Given the description of an element on the screen output the (x, y) to click on. 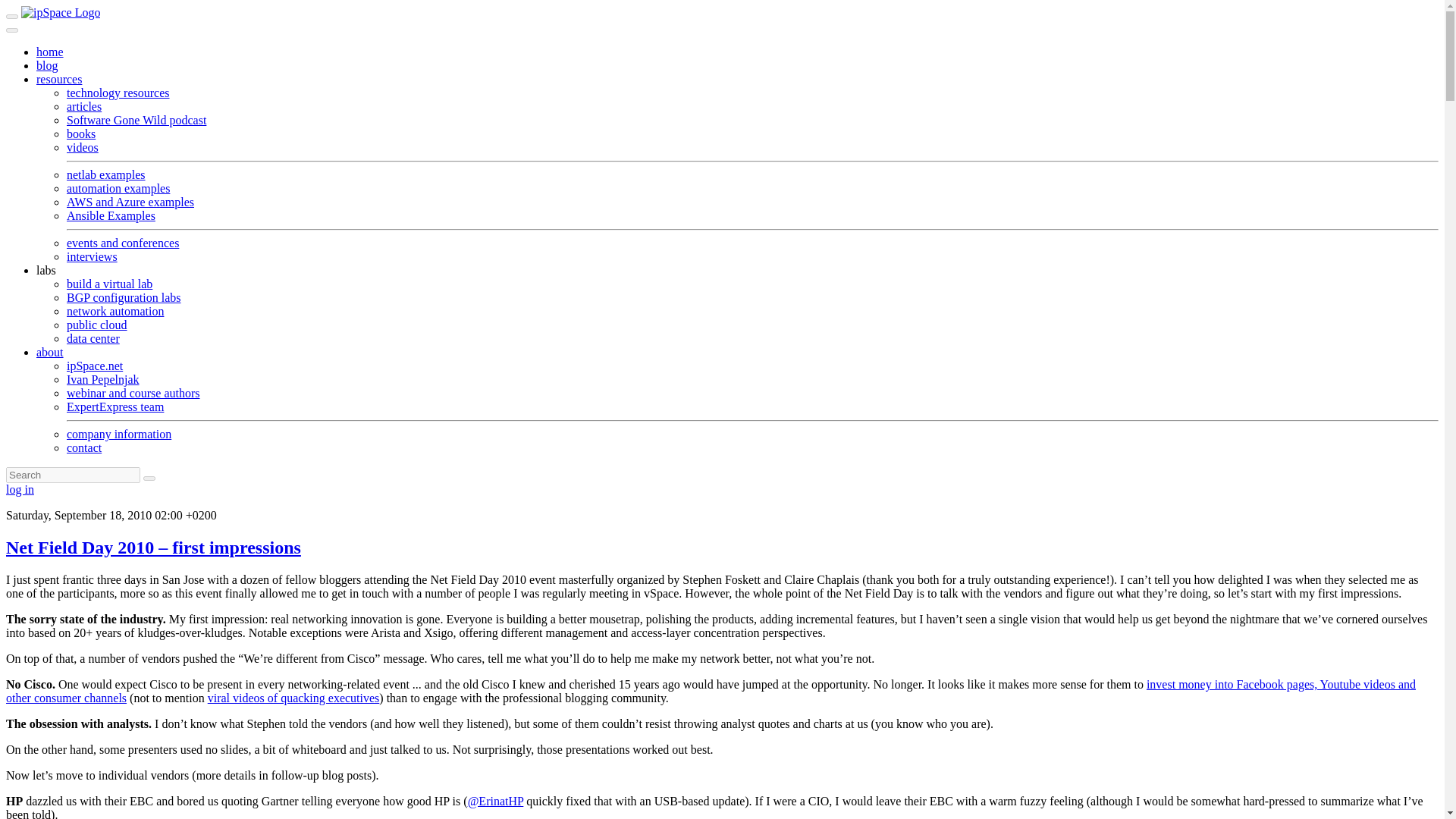
videos (82, 146)
interviews (91, 256)
build a virtual lab (109, 283)
BGP configuration labs (123, 297)
AWS and Azure examples (129, 201)
Software Gone Wild podcast (136, 119)
articles (83, 106)
technology resources (118, 92)
resources (58, 78)
public cloud (97, 324)
